Given the description of an element on the screen output the (x, y) to click on. 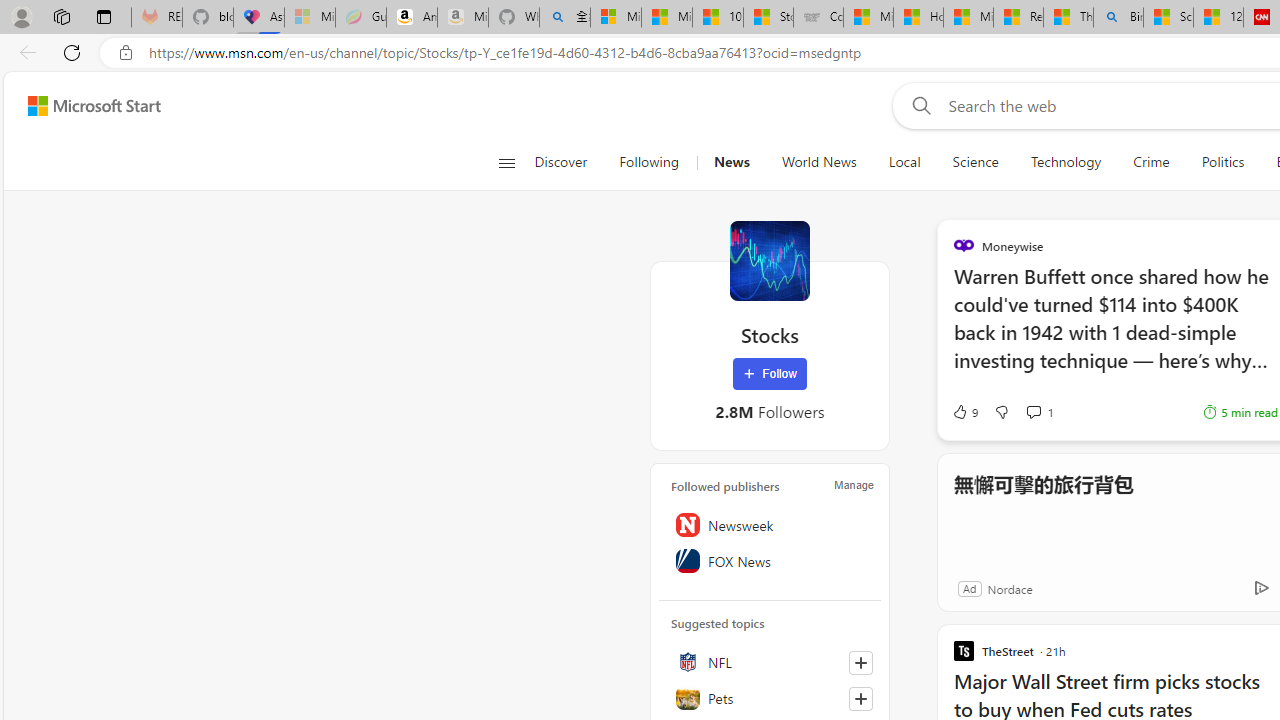
Local (904, 162)
Technology (1066, 162)
Ad Choice (1261, 588)
Nordace (1009, 588)
Manage (854, 484)
Science (975, 162)
Follow (769, 373)
Local (903, 162)
NFL (770, 661)
Newsweek (770, 525)
World News (818, 162)
